Given the description of an element on the screen output the (x, y) to click on. 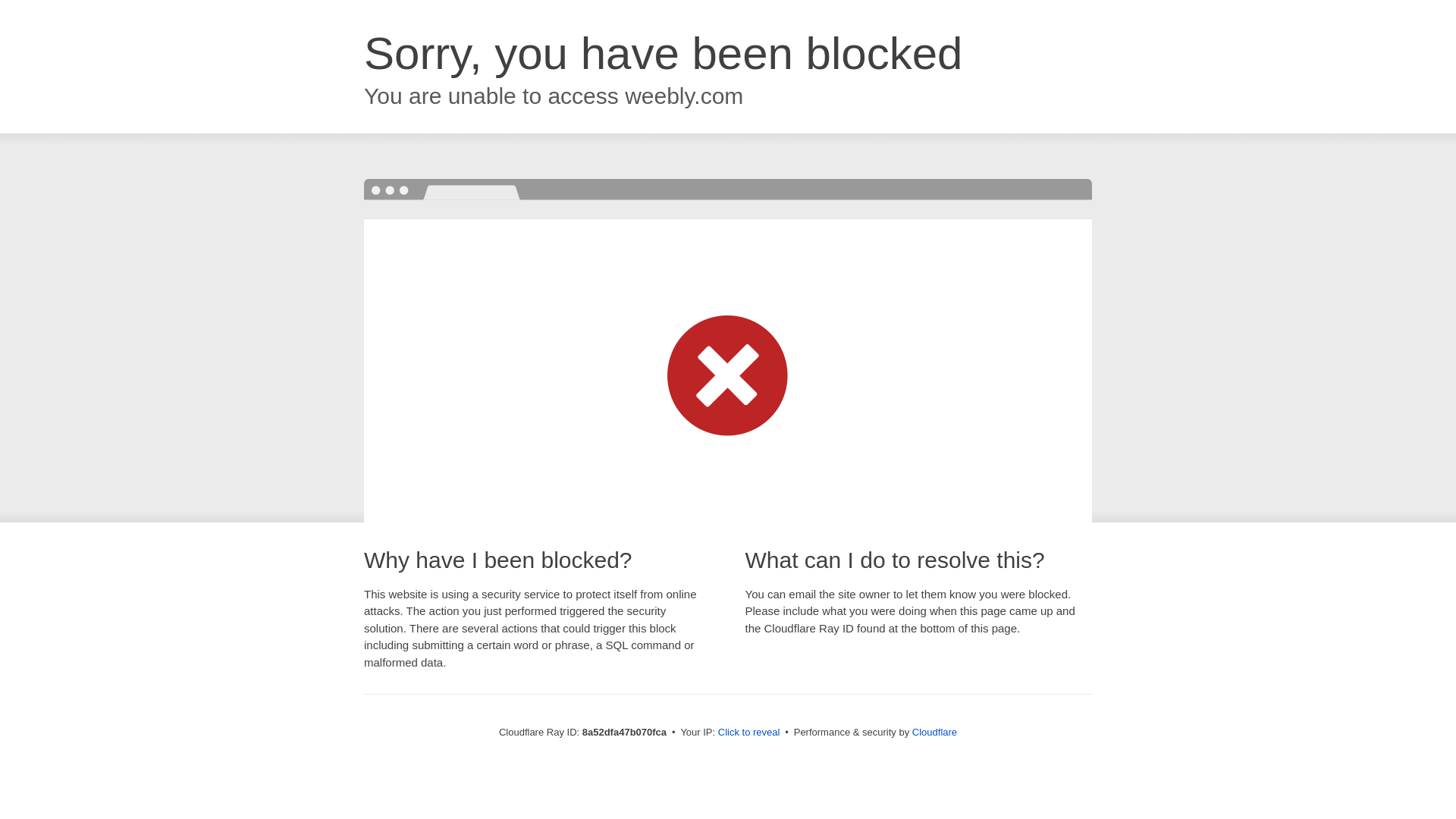
Click to reveal (748, 732)
Cloudflare (934, 731)
